Given the description of an element on the screen output the (x, y) to click on. 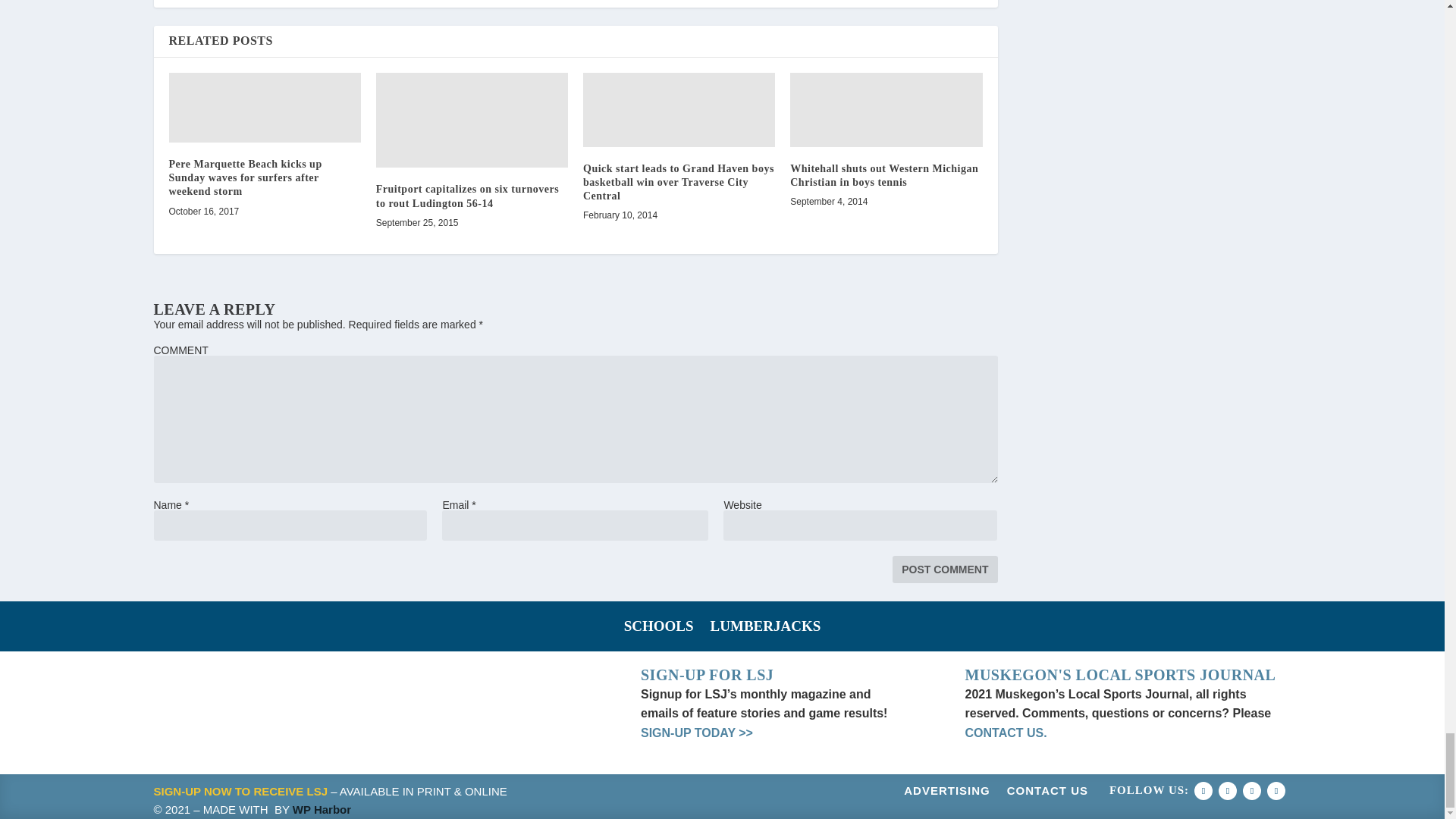
Post Comment (944, 569)
